Given the description of an element on the screen output the (x, y) to click on. 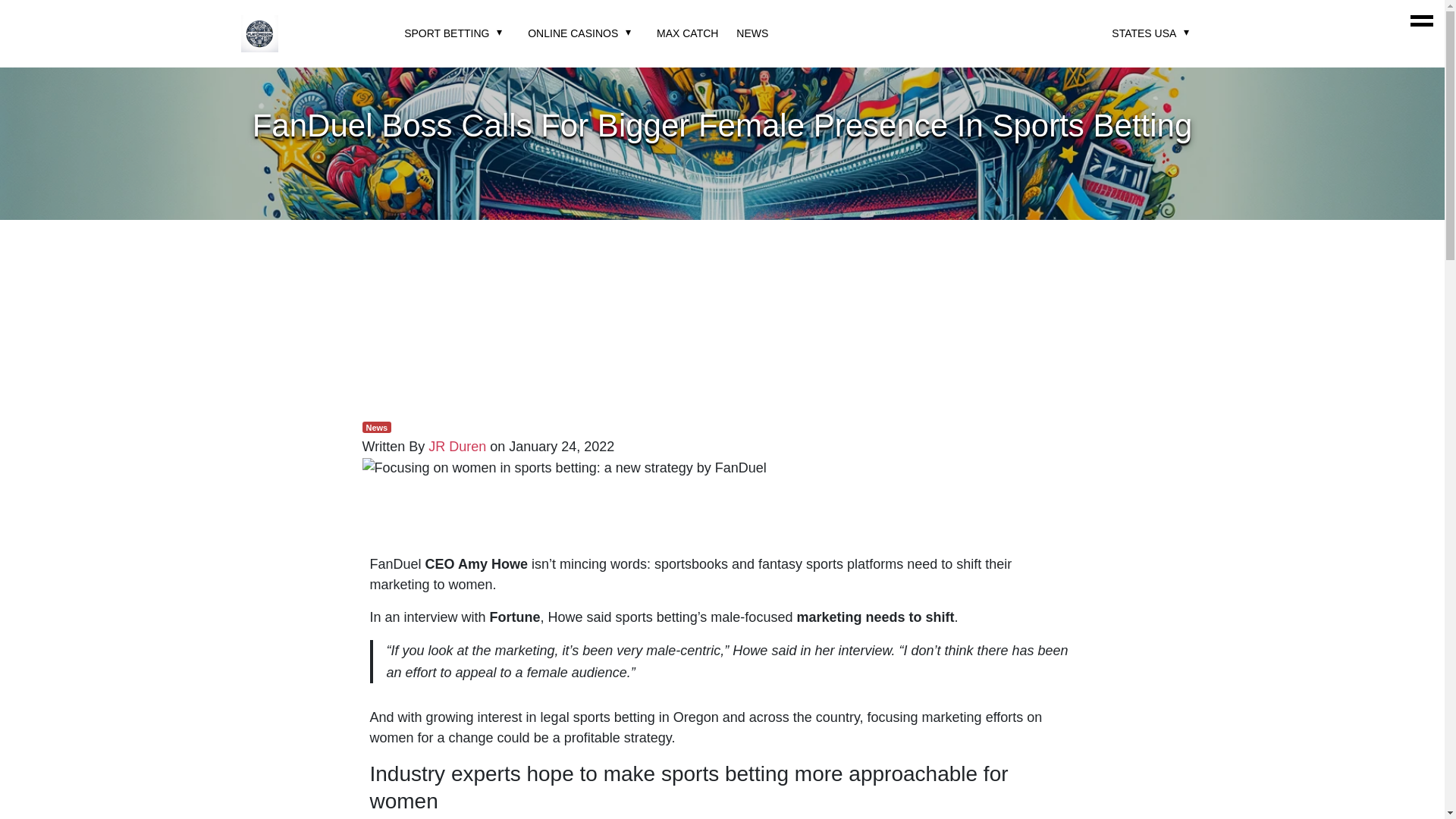
News (376, 427)
sports betting in Oregon (646, 717)
MAX CATCH (686, 33)
NEWS (752, 33)
STATES USA (1143, 33)
JR Duren (457, 446)
SPORT BETTING (446, 33)
ONLINE CASINOS (572, 33)
